Given the description of an element on the screen output the (x, y) to click on. 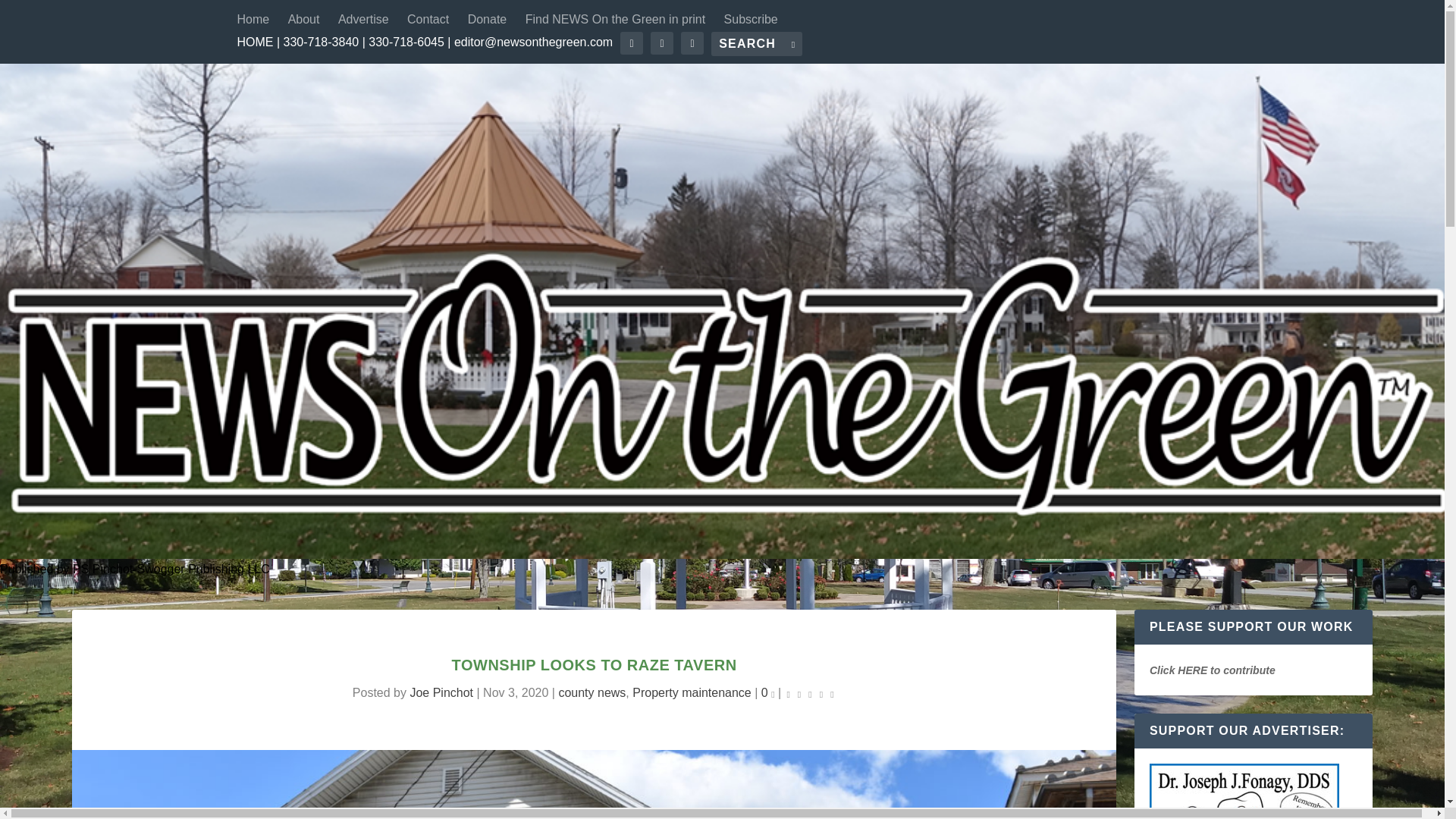
Posts by Joe Pinchot (441, 692)
Search for: (756, 43)
Subscribe (750, 19)
Contact (427, 19)
Rating: 5.00 (809, 693)
Find NEWS On the Green in print (614, 19)
HOME (254, 42)
330-718-6045 (406, 42)
Advertise (362, 19)
Donate (486, 19)
